Given the description of an element on the screen output the (x, y) to click on. 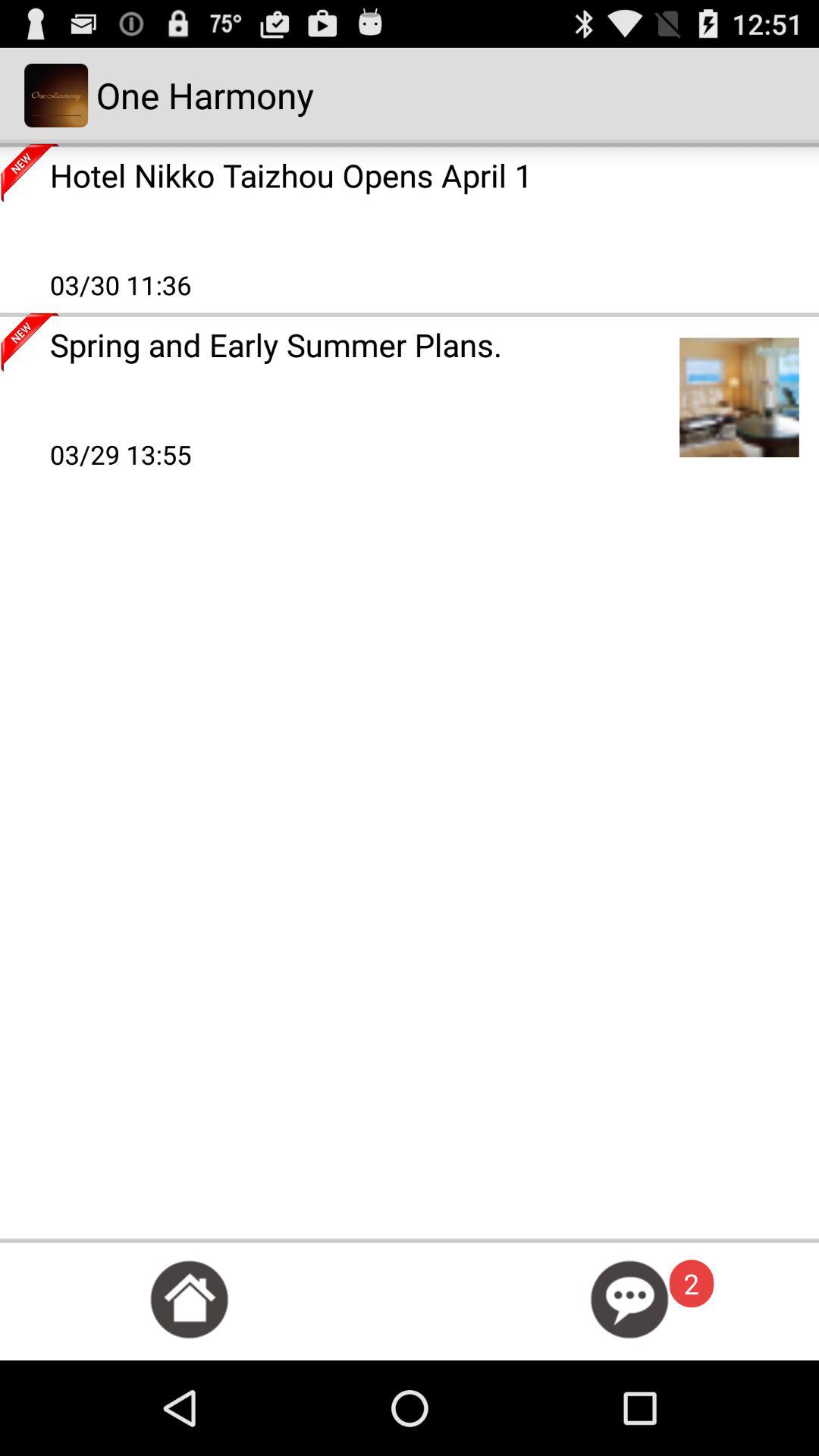
open messages (629, 1299)
